Given the description of an element on the screen output the (x, y) to click on. 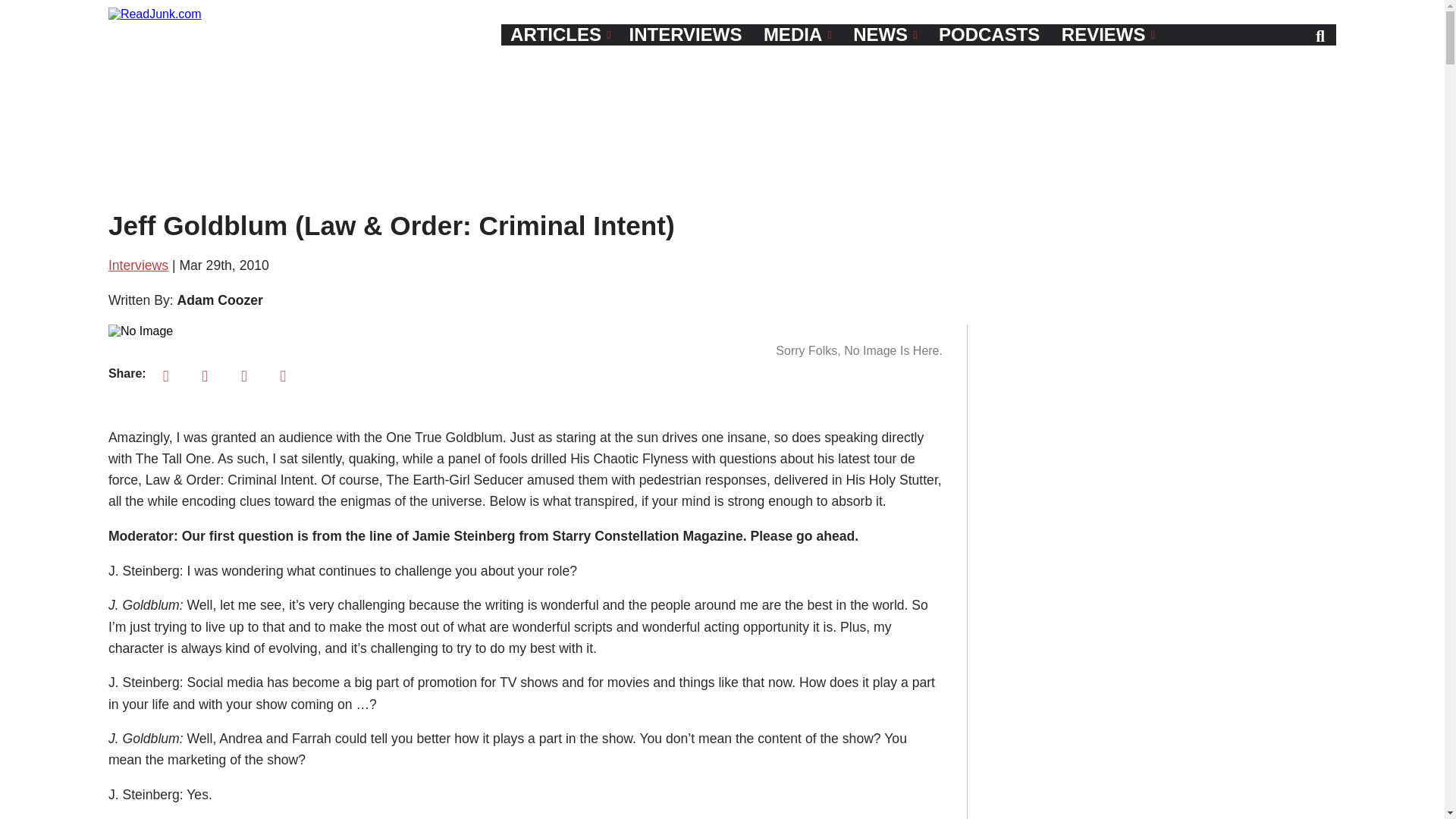
INTERVIEWS (685, 34)
NEWS (885, 34)
Posts by Adam Coozer (219, 299)
ARTICLES (560, 34)
REVIEWS (1107, 34)
MEDIA (797, 34)
PODCASTS (989, 34)
